Given the description of an element on the screen output the (x, y) to click on. 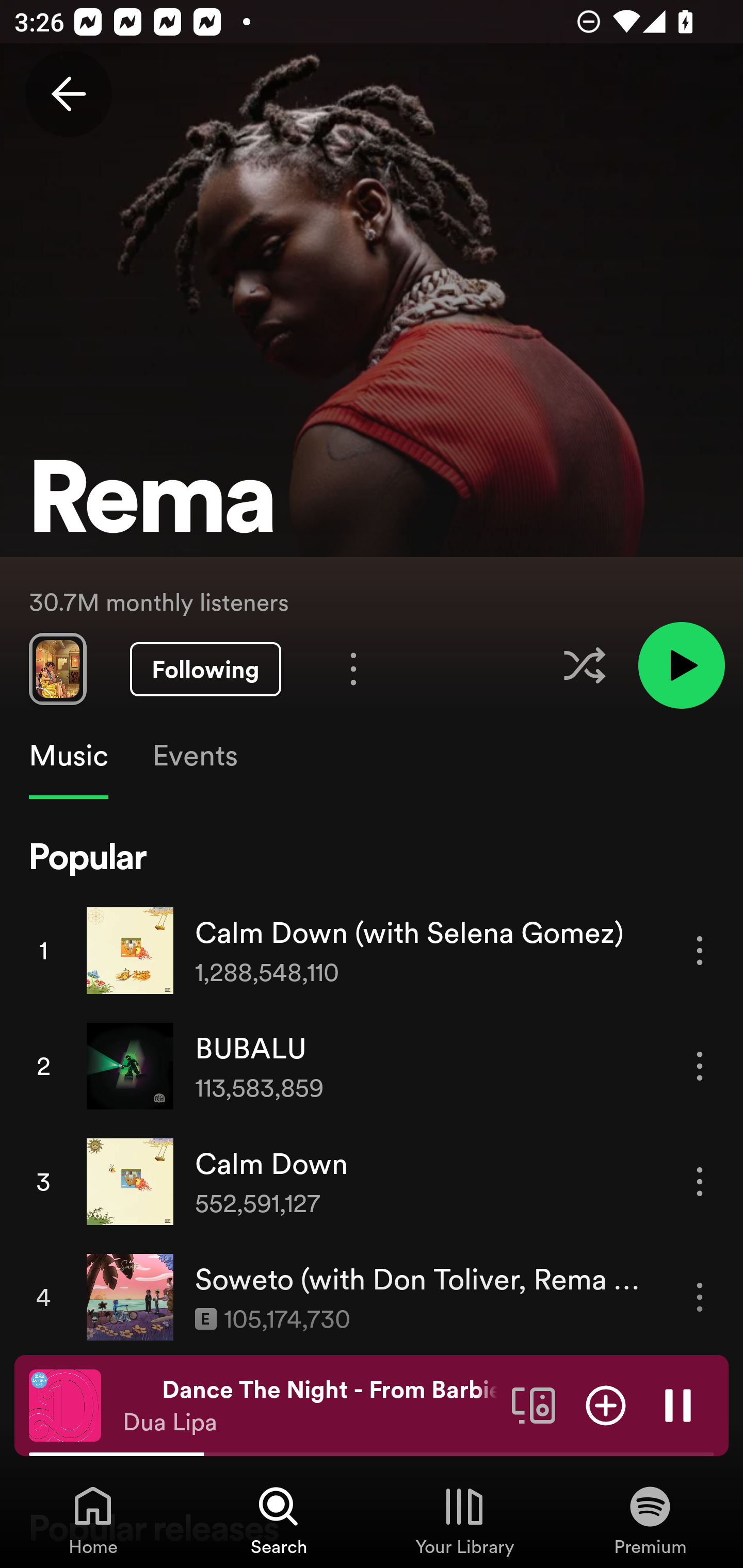
Back (68, 93)
Play artist (681, 664)
Enable shuffle for this artist (583, 665)
More options for artist Rema (352, 668)
Following Unfollow (205, 669)
Events (194, 755)
2 BUBALU 113,583,859 More options for song BUBALU (371, 1066)
More options for song BUBALU (699, 1066)
More options for song Calm Down (699, 1181)
Dance The Night - From Barbie The Album Dua Lipa (309, 1405)
The cover art of the currently playing track (64, 1404)
Connect to a device. Opens the devices menu (533, 1404)
Add item (605, 1404)
Pause (677, 1404)
Home, Tab 1 of 4 Home Home (92, 1519)
Search, Tab 2 of 4 Search Search (278, 1519)
Your Library, Tab 3 of 4 Your Library Your Library (464, 1519)
Premium, Tab 4 of 4 Premium Premium (650, 1519)
